Given the description of an element on the screen output the (x, y) to click on. 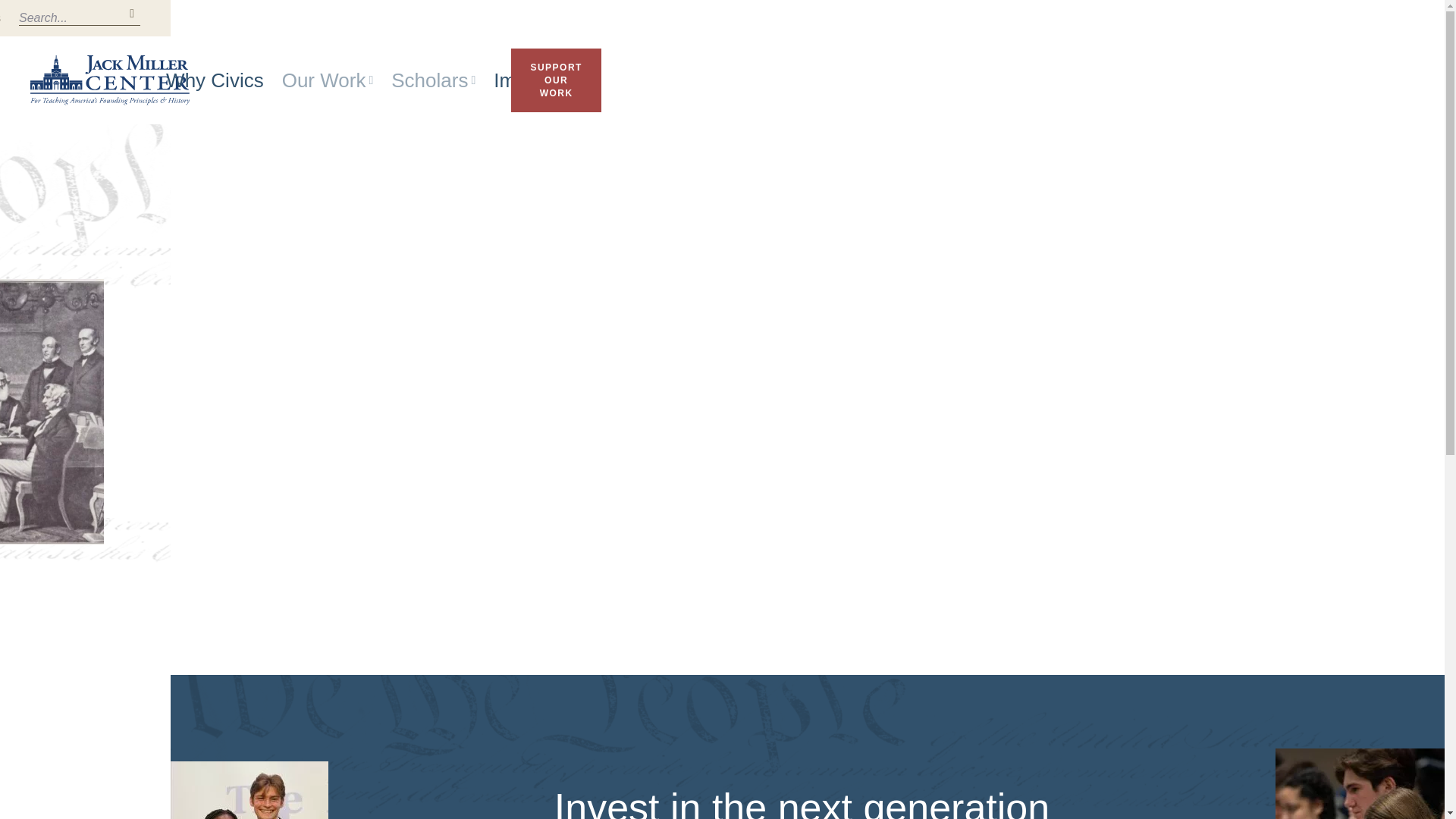
Our Work (328, 80)
Impact (523, 80)
SUPPORT OUR WORK (556, 80)
Why Civics (214, 80)
Scholars (433, 80)
